Given the description of an element on the screen output the (x, y) to click on. 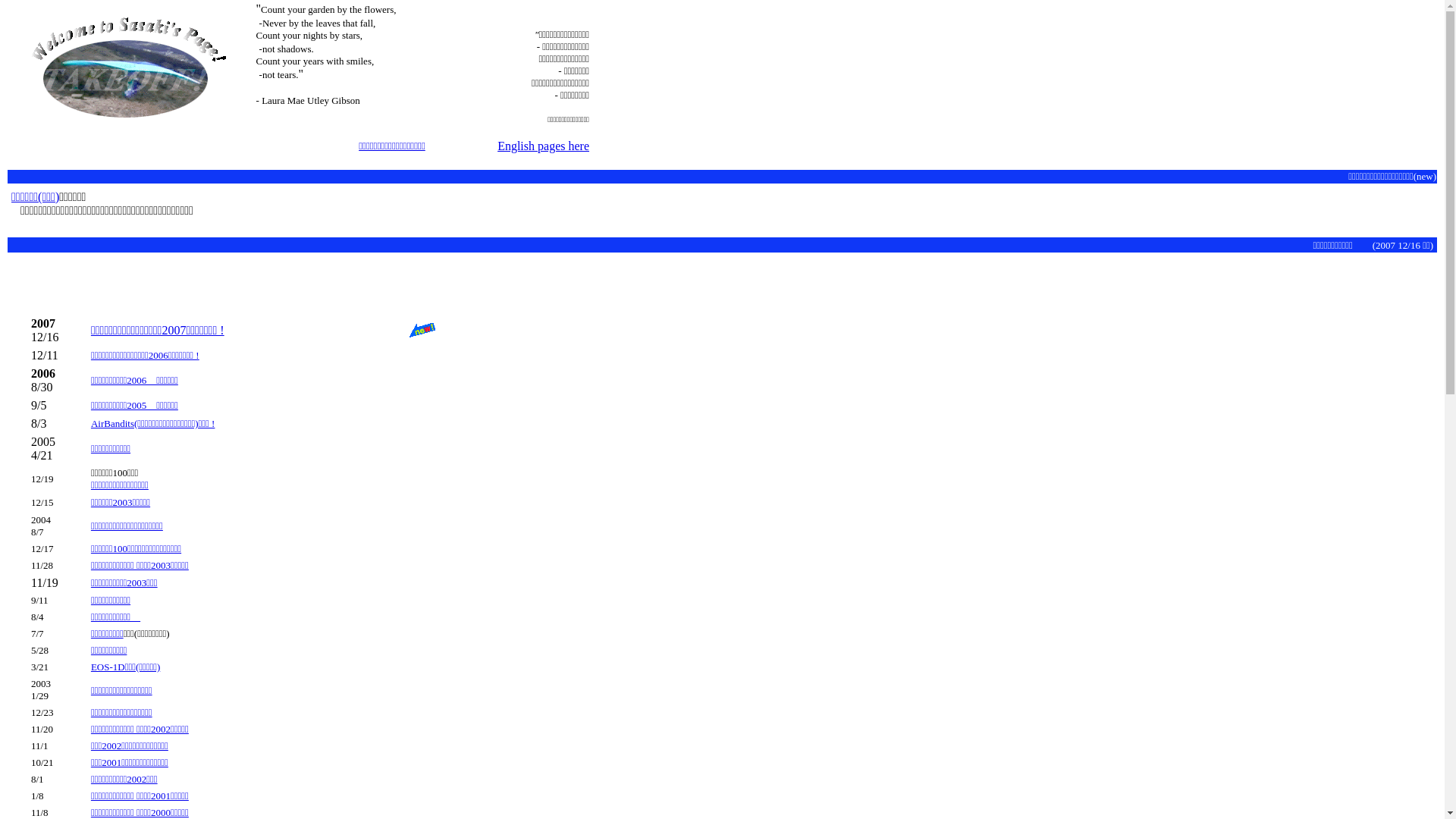
English pages here Element type: text (543, 145)
